Given the description of an element on the screen output the (x, y) to click on. 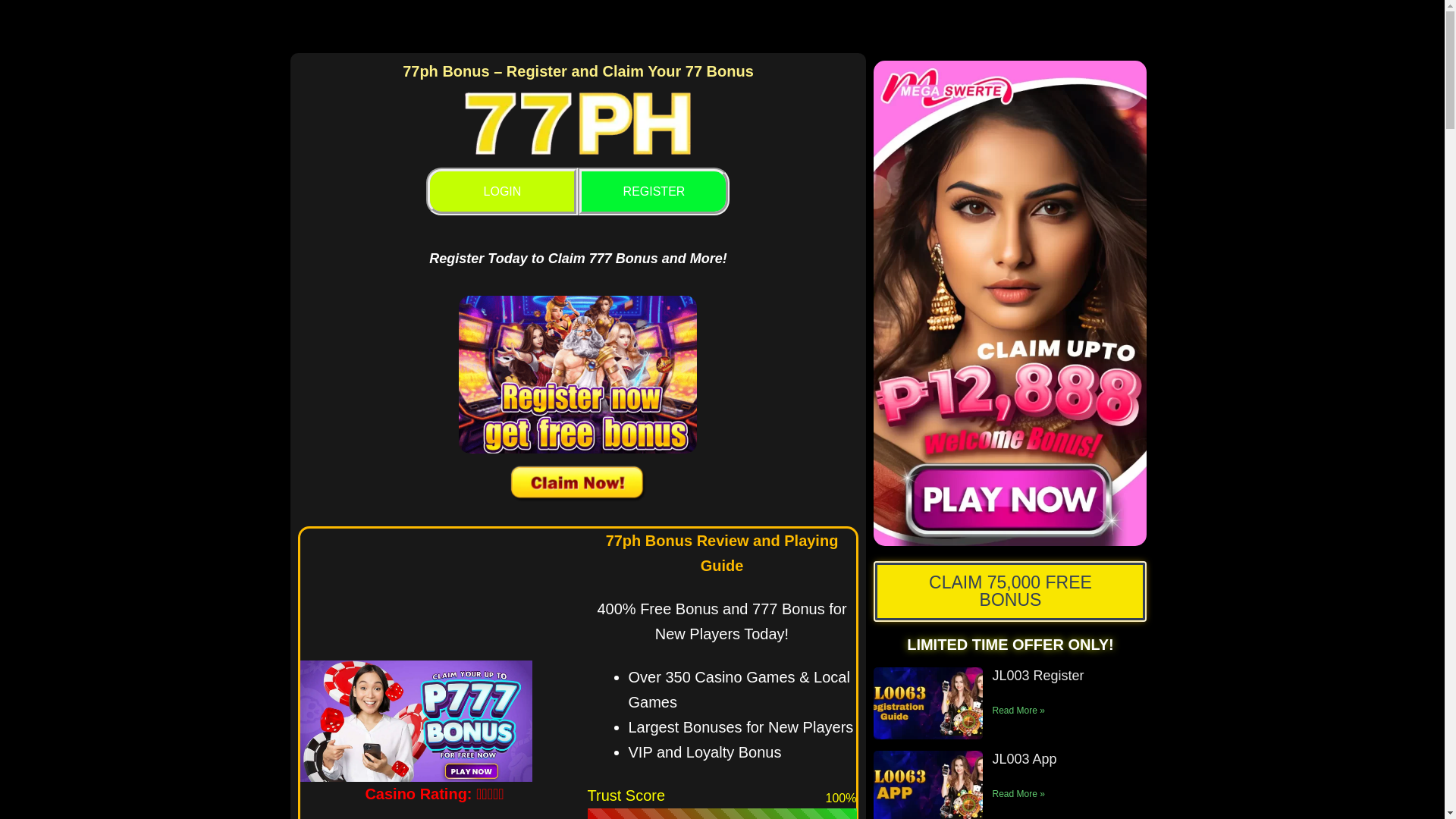
REGISTER (653, 191)
CLAIM 75,000 FREE BONUS (1009, 590)
JL003 Register (1037, 675)
LOGIN (502, 191)
